Given the description of an element on the screen output the (x, y) to click on. 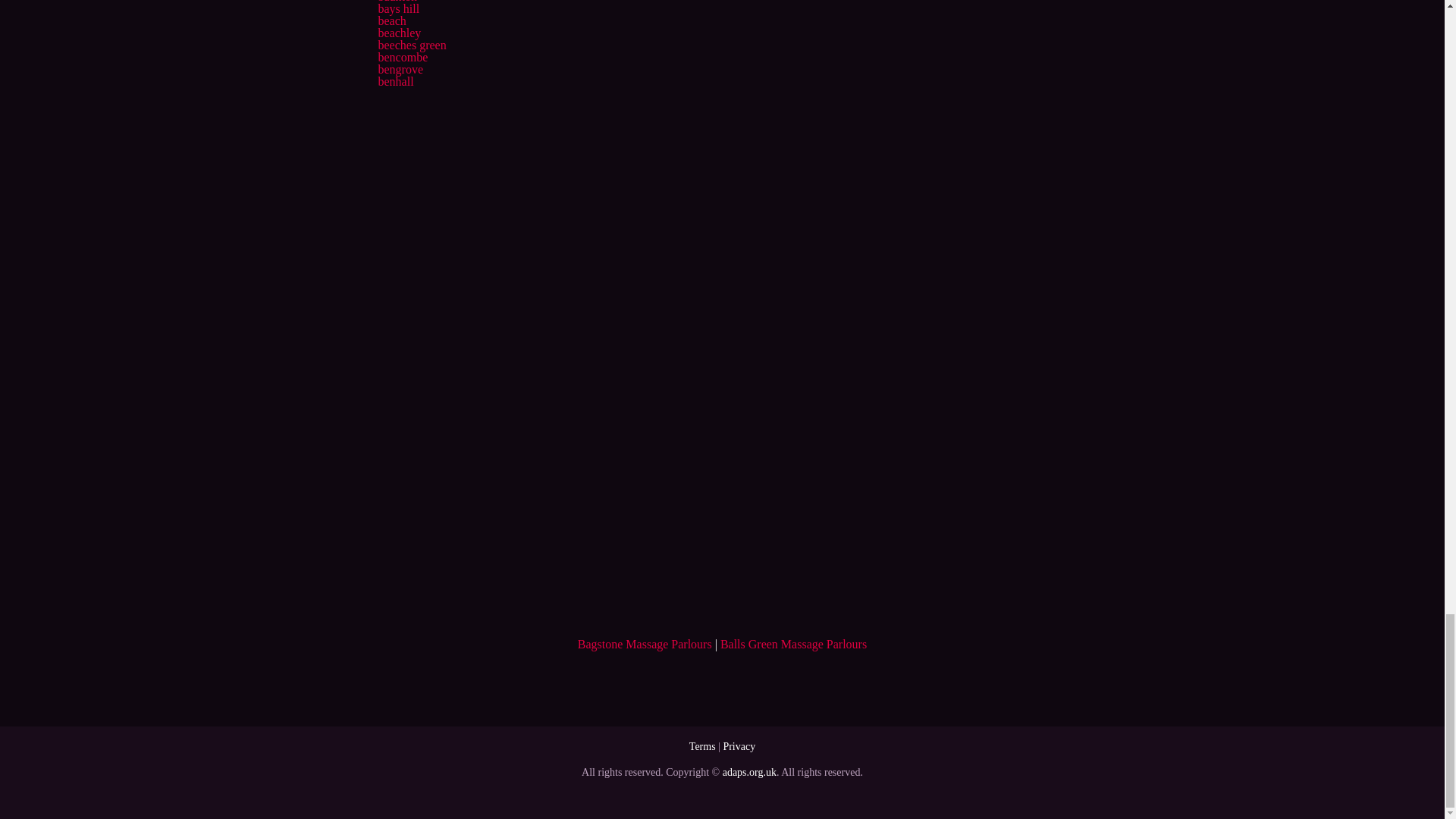
Bagstone Massage Parlours (644, 644)
bengrove (400, 69)
adaps.org.uk (749, 772)
beachley (398, 32)
Privacy (738, 746)
bays hill (398, 8)
benhall (395, 81)
beeches green (411, 44)
baunton (396, 1)
Terms (702, 746)
